Given the description of an element on the screen output the (x, y) to click on. 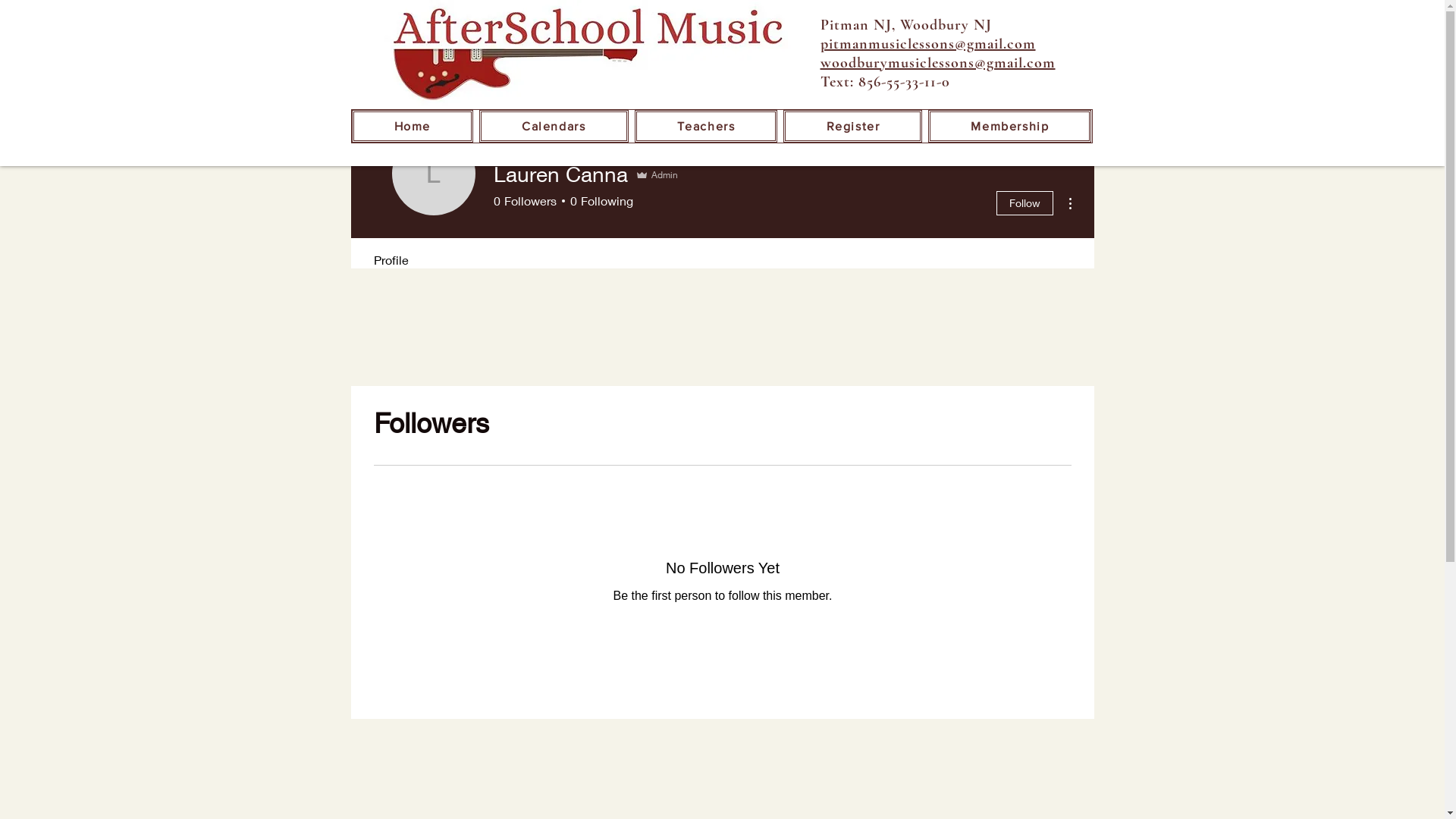
Membership Element type: text (1009, 125)
0
Following Element type: text (598, 200)
0
Followers Element type: text (523, 200)
Register Element type: text (852, 125)
Calendars Element type: text (553, 125)
woodburymusiclessons@gmail.com Element type: text (937, 62)
Profile Element type: text (390, 253)
Home Element type: text (412, 125)
Teachers Element type: text (706, 125)
pitmanmusiclessons@gmail.com Element type: text (927, 43)
Follow Element type: text (1024, 203)
